Given the description of an element on the screen output the (x, y) to click on. 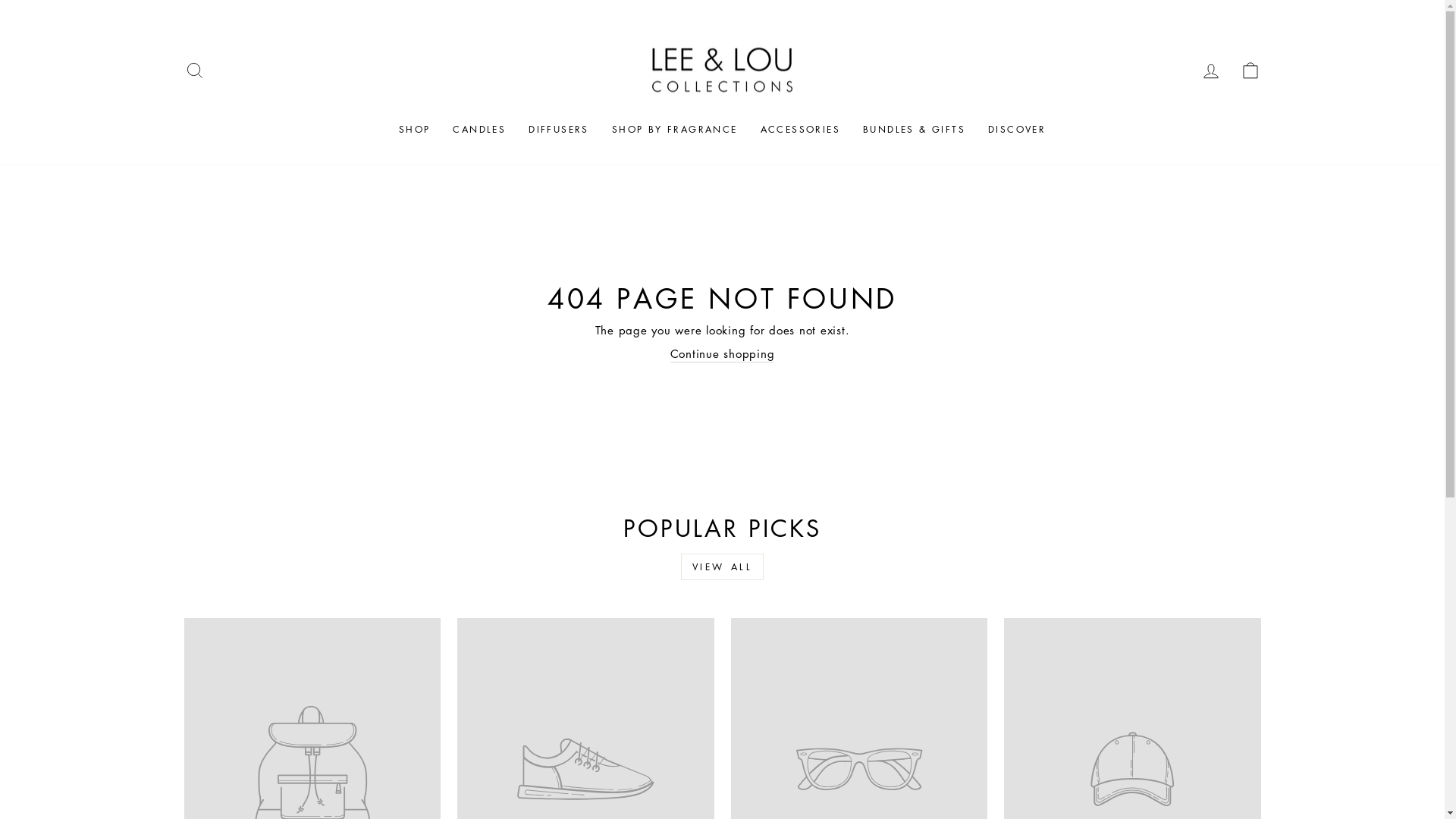
Continue shopping Element type: text (722, 353)
CANDLES Element type: text (479, 129)
DIFFUSERS Element type: text (558, 129)
LOG IN Element type: text (1210, 69)
BUNDLES & GIFTS Element type: text (913, 129)
Skip to content Element type: text (0, 0)
DISCOVER Element type: text (1016, 129)
CART Element type: text (1249, 69)
ACCESSORIES Element type: text (800, 129)
VIEW ALL Element type: text (722, 566)
SHOP BY FRAGRANCE Element type: text (674, 129)
SHOP Element type: text (414, 129)
SEARCH Element type: text (193, 69)
